Given the description of an element on the screen output the (x, y) to click on. 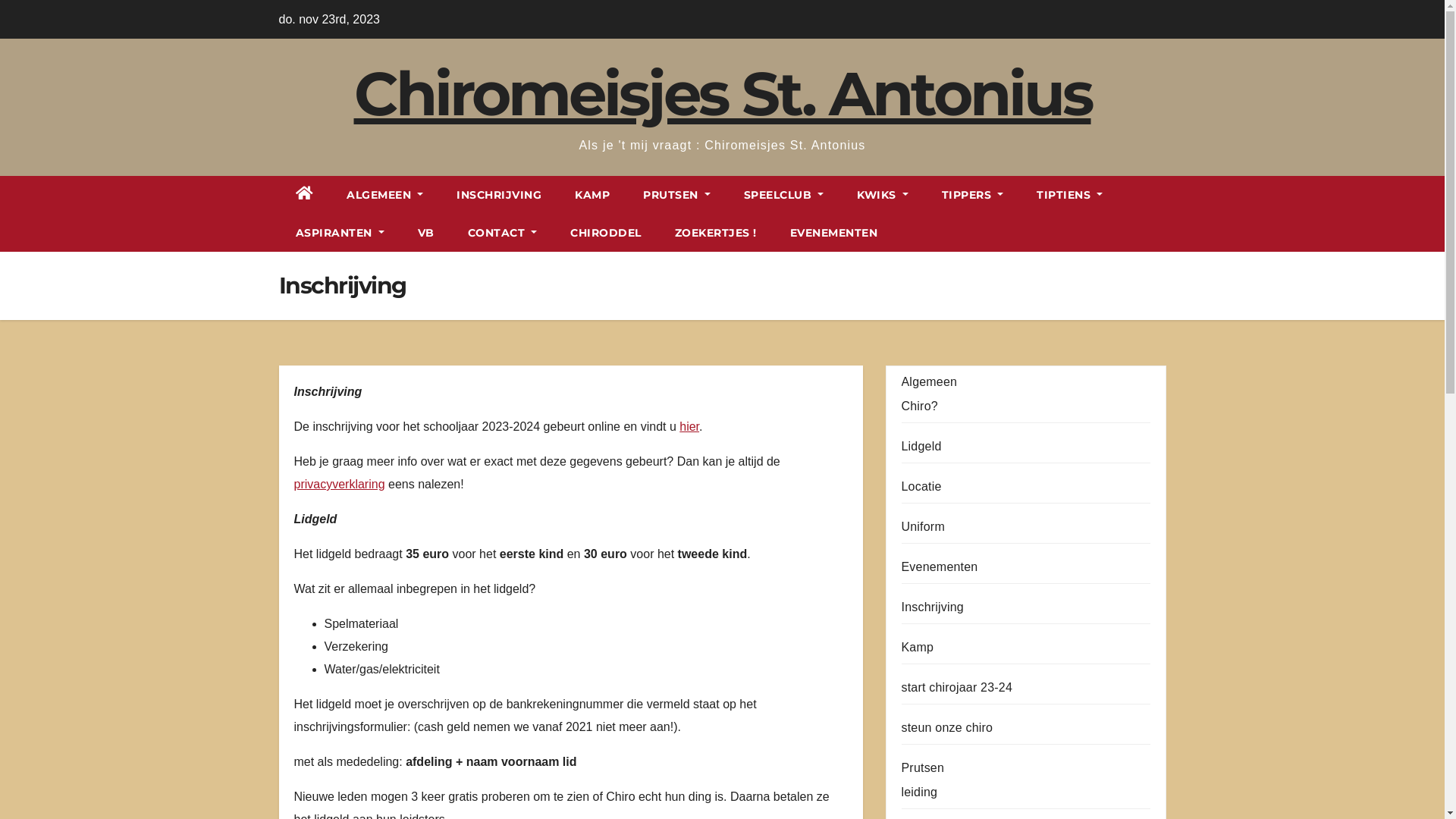
Chiromeisjes St. Antonius Element type: text (721, 93)
ASPIRANTEN Element type: text (340, 232)
Chiro? Element type: text (918, 405)
steun onze chiro Element type: text (946, 727)
Algemeen Element type: text (928, 381)
TIPPERS Element type: text (972, 194)
KWIKS Element type: text (882, 194)
Kamp Element type: text (916, 646)
hier Element type: text (689, 426)
SPEELCLUB Element type: text (783, 194)
privacyverklaring Element type: text (339, 483)
Lidgeld Element type: text (920, 445)
Evenementen Element type: text (938, 566)
leiding Element type: text (918, 791)
Prutsen Element type: text (922, 767)
Uniform Element type: text (922, 526)
Inschrijving Element type: text (931, 606)
Locatie Element type: text (920, 486)
CHIRODDEL Element type: text (605, 232)
INSCHRIJVING Element type: text (498, 194)
KAMP Element type: text (592, 194)
CONTACT Element type: text (502, 232)
TIPTIENS Element type: text (1069, 194)
VB Element type: text (426, 232)
ALGEMEEN Element type: text (384, 194)
EVENEMENTEN Element type: text (833, 232)
start chirojaar 23-24 Element type: text (956, 686)
PRUTSEN Element type: text (676, 194)
ZOEKERTJES ! Element type: text (715, 232)
